Given the description of an element on the screen output the (x, y) to click on. 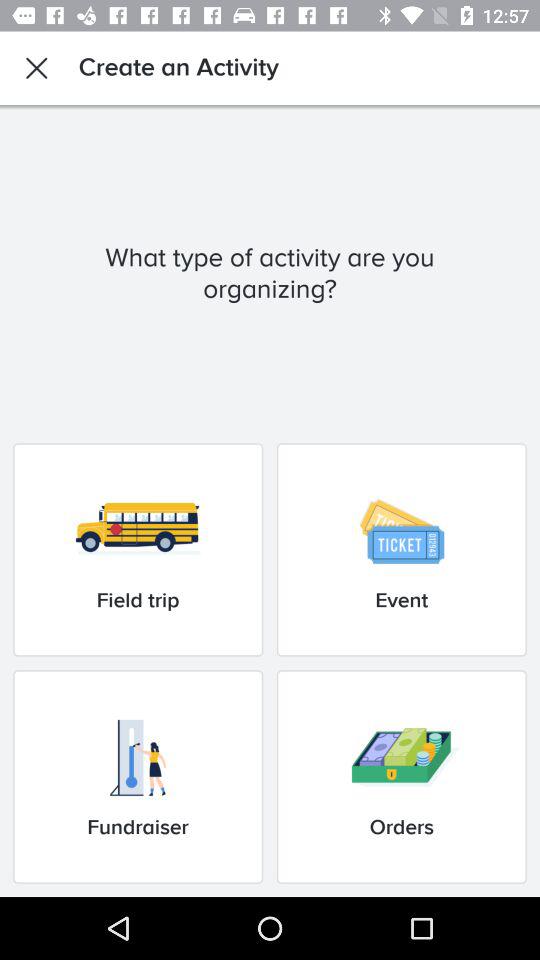
select icon to the left of orders item (138, 776)
